Given the description of an element on the screen output the (x, y) to click on. 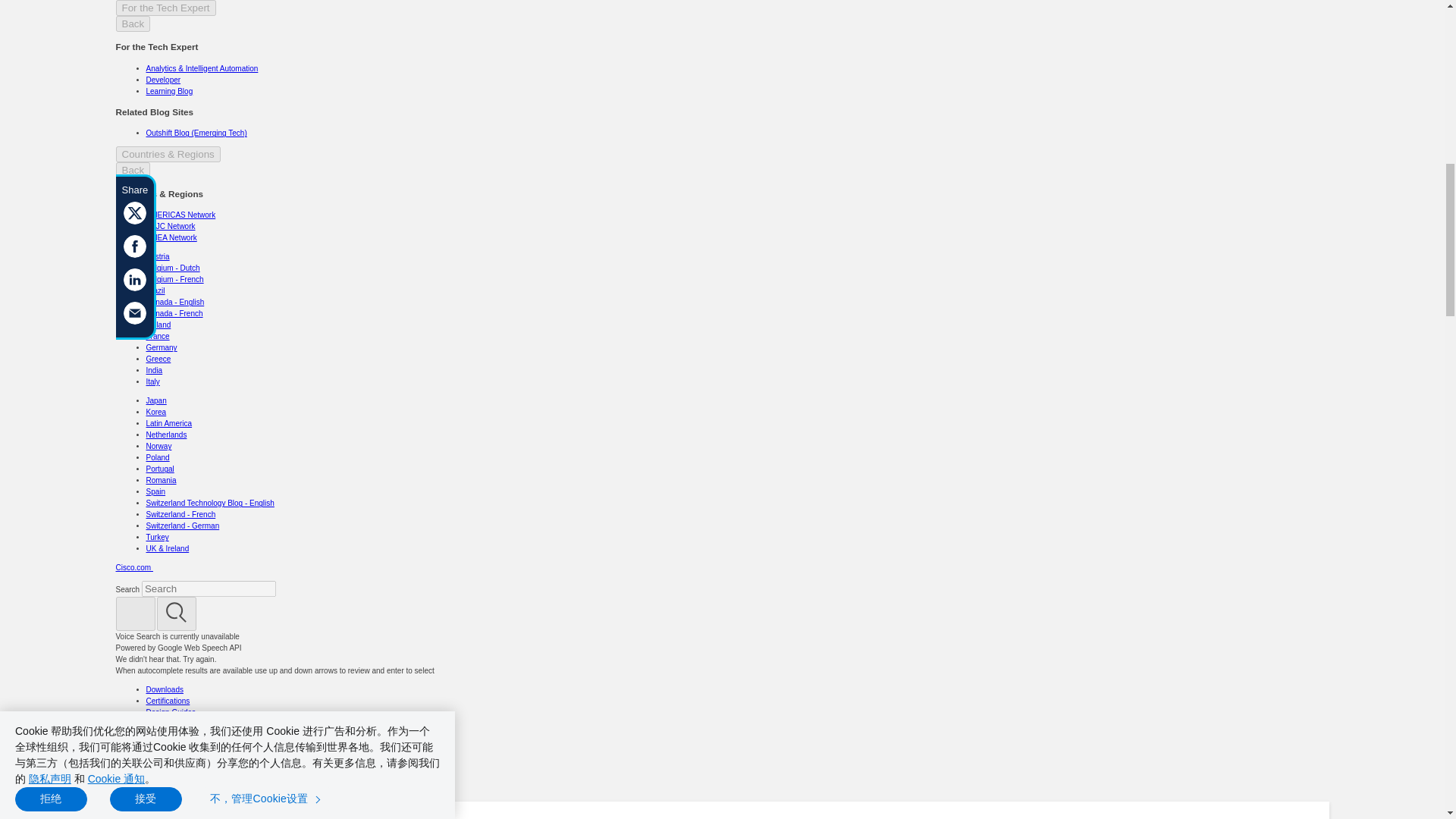
Cisco Blogs (249, 818)
